Given the description of an element on the screen output the (x, y) to click on. 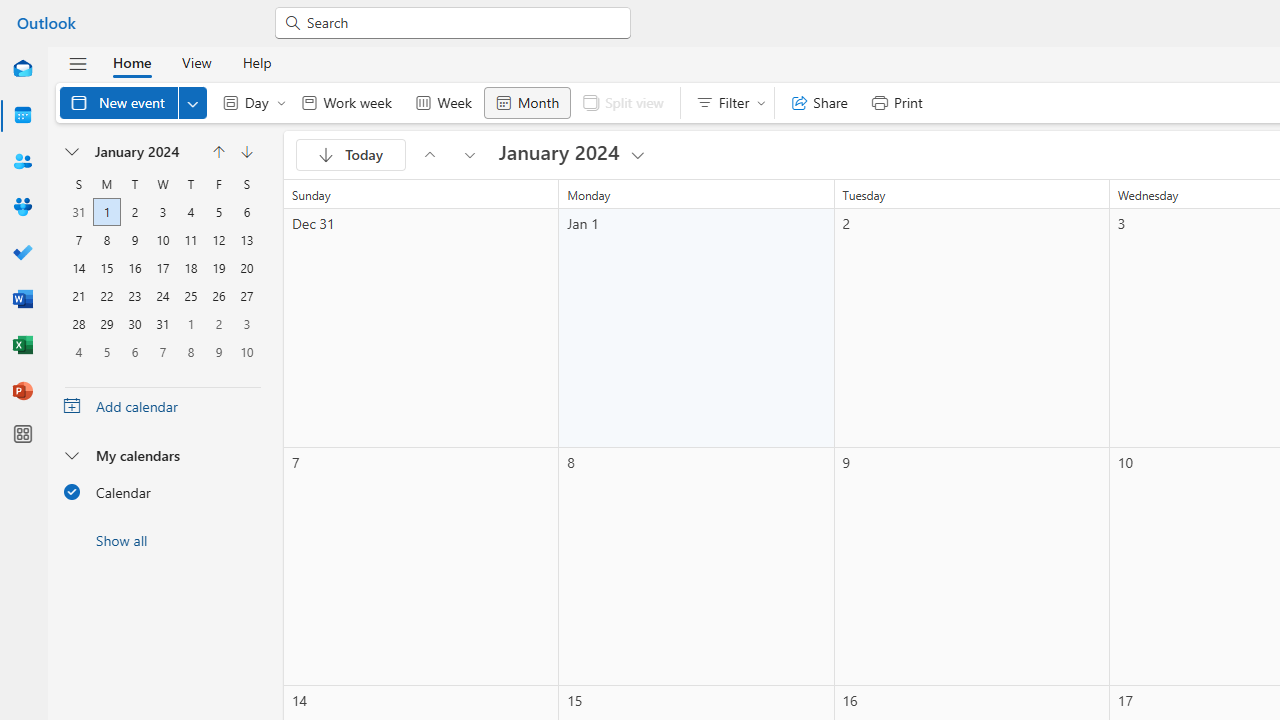
19, January, 2024 (218, 268)
30, January, 2024 (134, 323)
1, January, 2024 (106, 211)
24, January, 2024 (162, 296)
6, February, 2024 (134, 351)
8, January, 2024 (106, 239)
Share (819, 102)
January 2024, select to change the month (144, 152)
Calendar (22, 115)
8, January, 2024 (107, 240)
Week (443, 102)
4, February, 2024 (78, 351)
8, February, 2024 (191, 351)
25, January, 2024 (191, 295)
PowerPoint (22, 391)
